Given the description of an element on the screen output the (x, y) to click on. 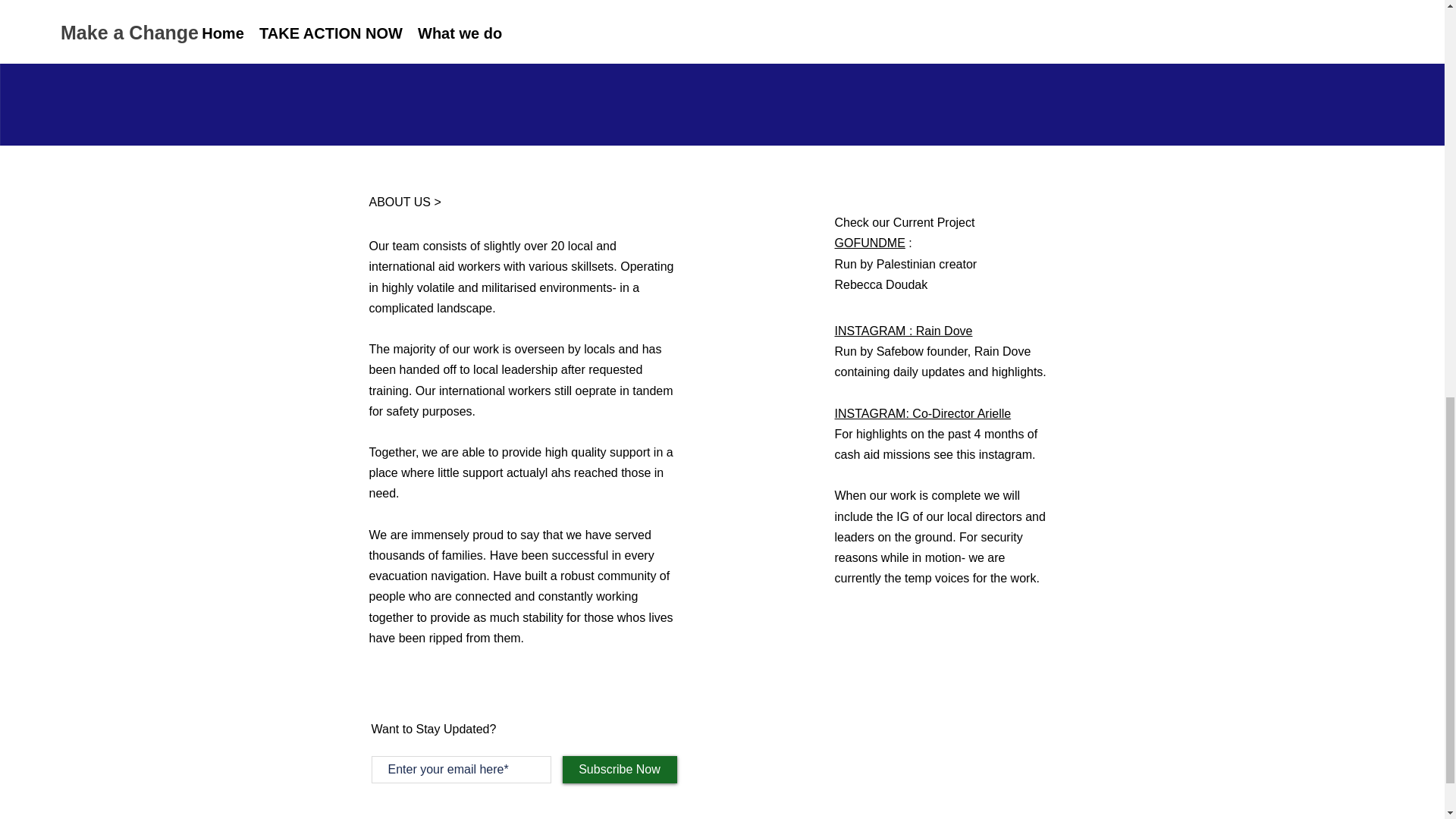
Subscribe Now (619, 768)
INSTAGRAM : Rain Dove (903, 330)
GOFUNDME (869, 242)
INSTAGRAM: Co-Director Arielle (922, 413)
